Given the description of an element on the screen output the (x, y) to click on. 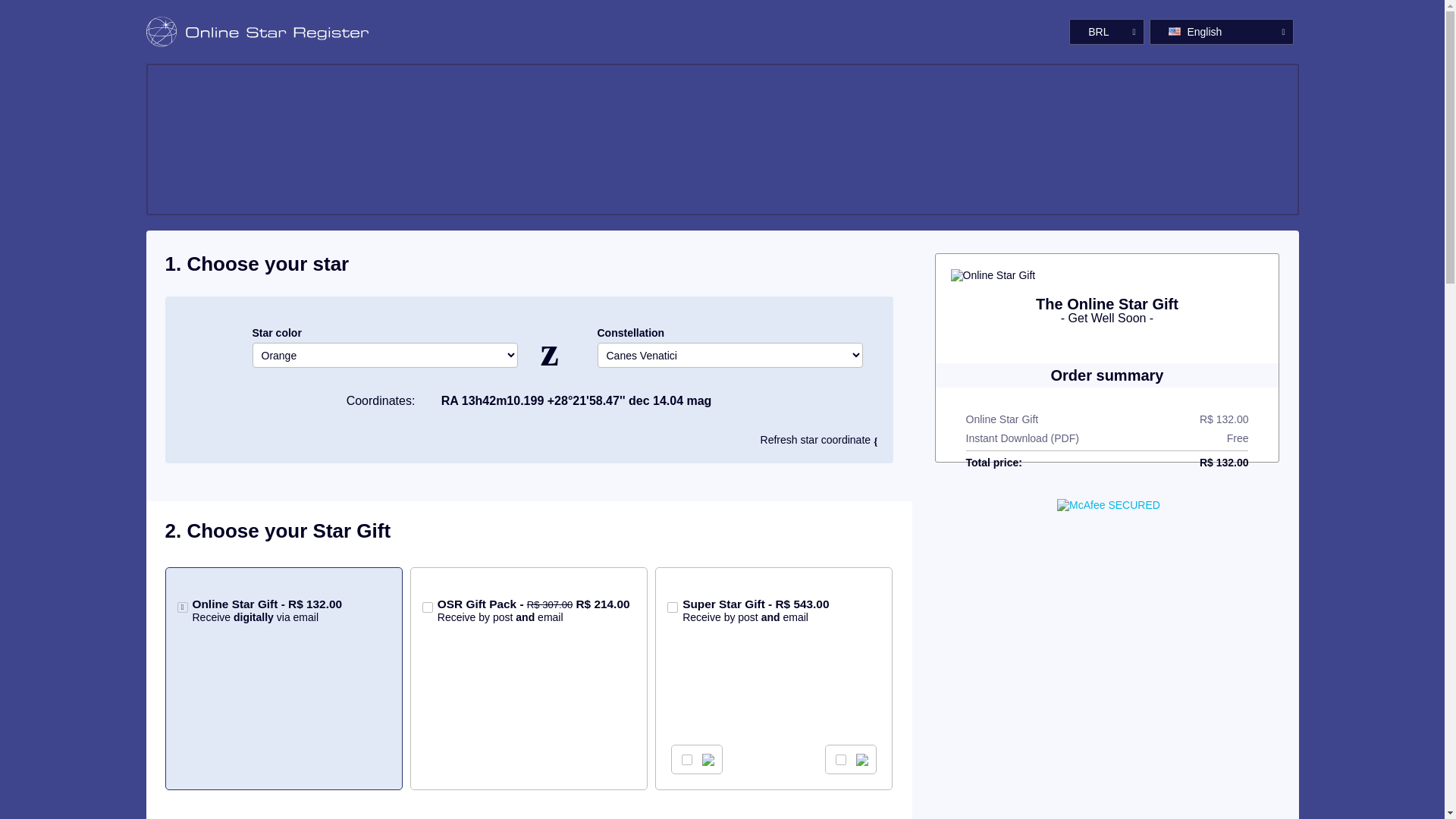
Online Star Register (237, 31)
McAfee SECURED (1108, 504)
